Given the description of an element on the screen output the (x, y) to click on. 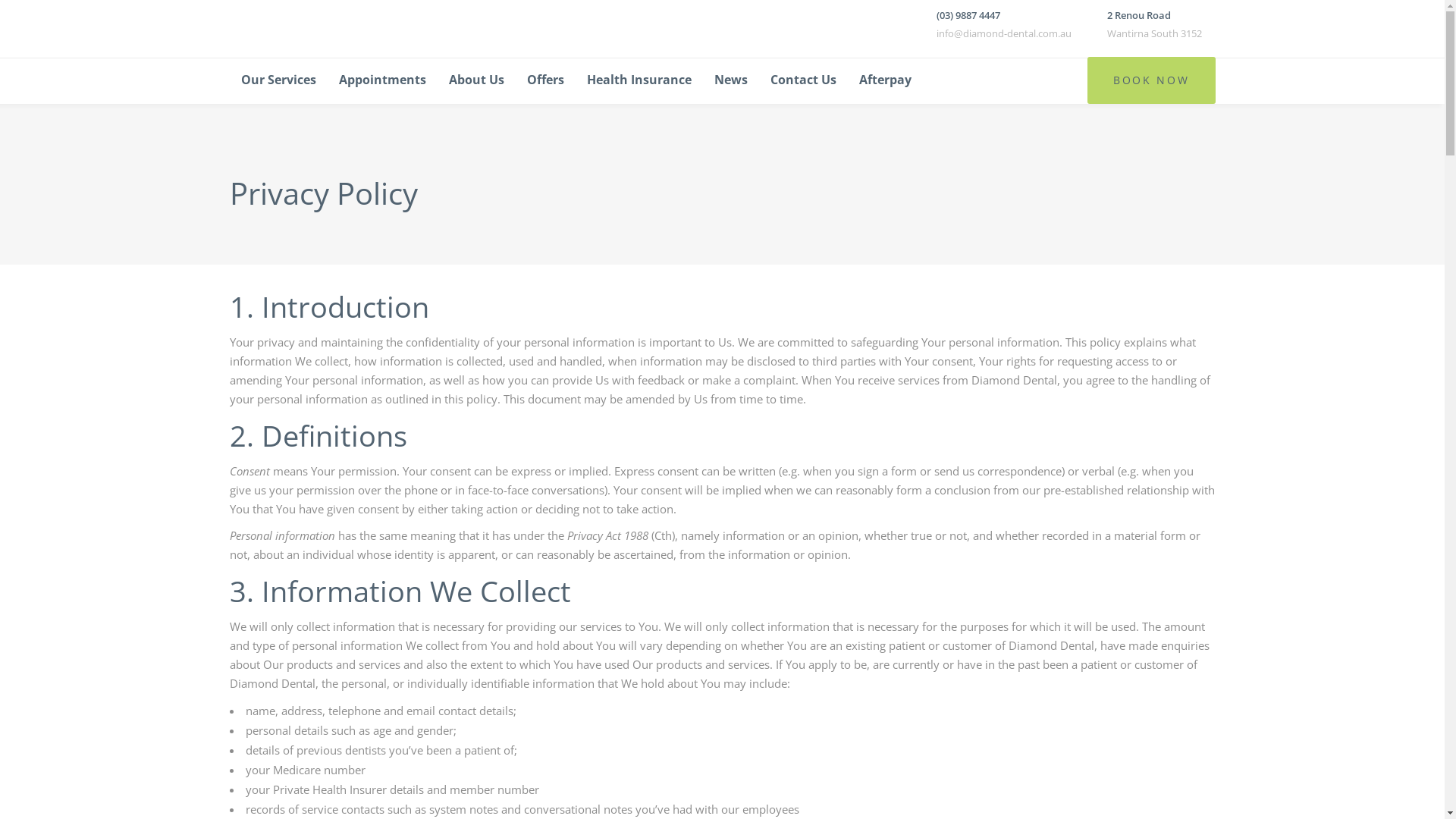
Afterpay Element type: text (884, 79)
News Element type: text (730, 79)
Appointments Element type: text (382, 79)
Health Insurance Element type: text (638, 79)
(03) 9887 4447 Element type: text (967, 14)
info@diamond-dental.com.au Element type: text (1002, 33)
Contact Us Element type: text (802, 79)
BOOK NOW Element type: text (1151, 79)
About Us Element type: text (475, 79)
Our Services Element type: text (277, 79)
Offers Element type: text (545, 79)
